Given the description of an element on the screen output the (x, y) to click on. 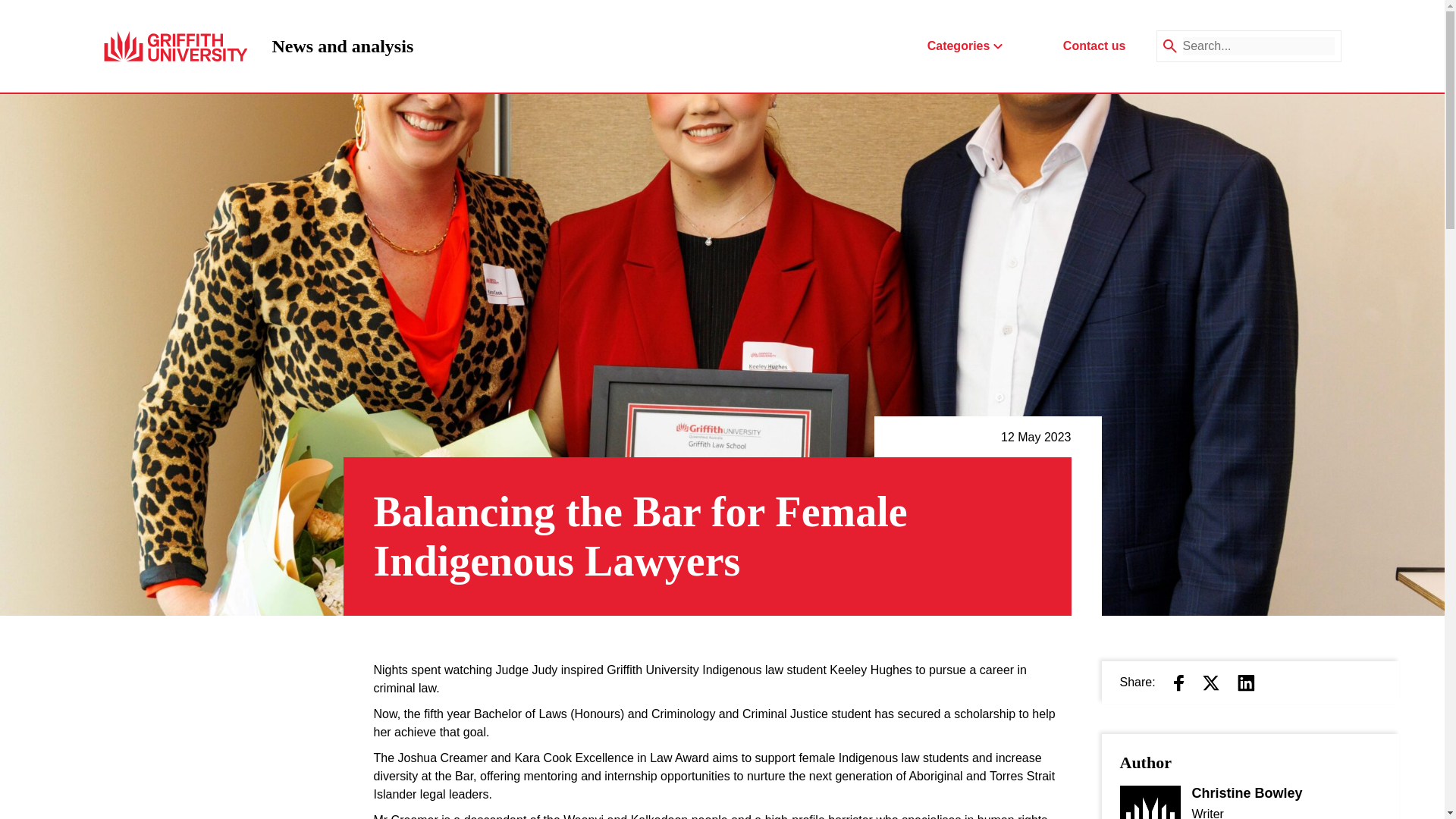
Contact us (1093, 45)
